Given the description of an element on the screen output the (x, y) to click on. 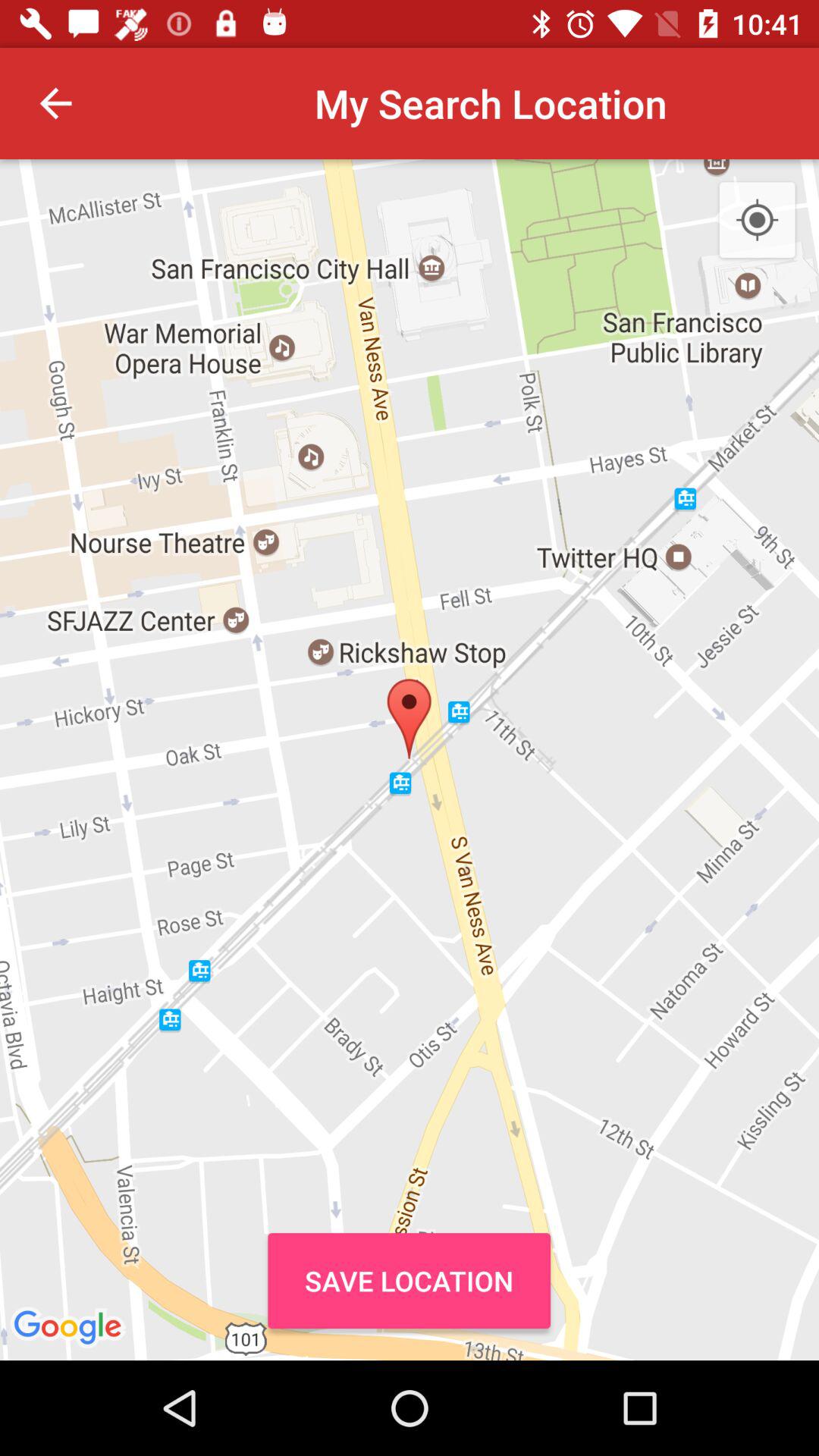
launch icon at the center (409, 759)
